Given the description of an element on the screen output the (x, y) to click on. 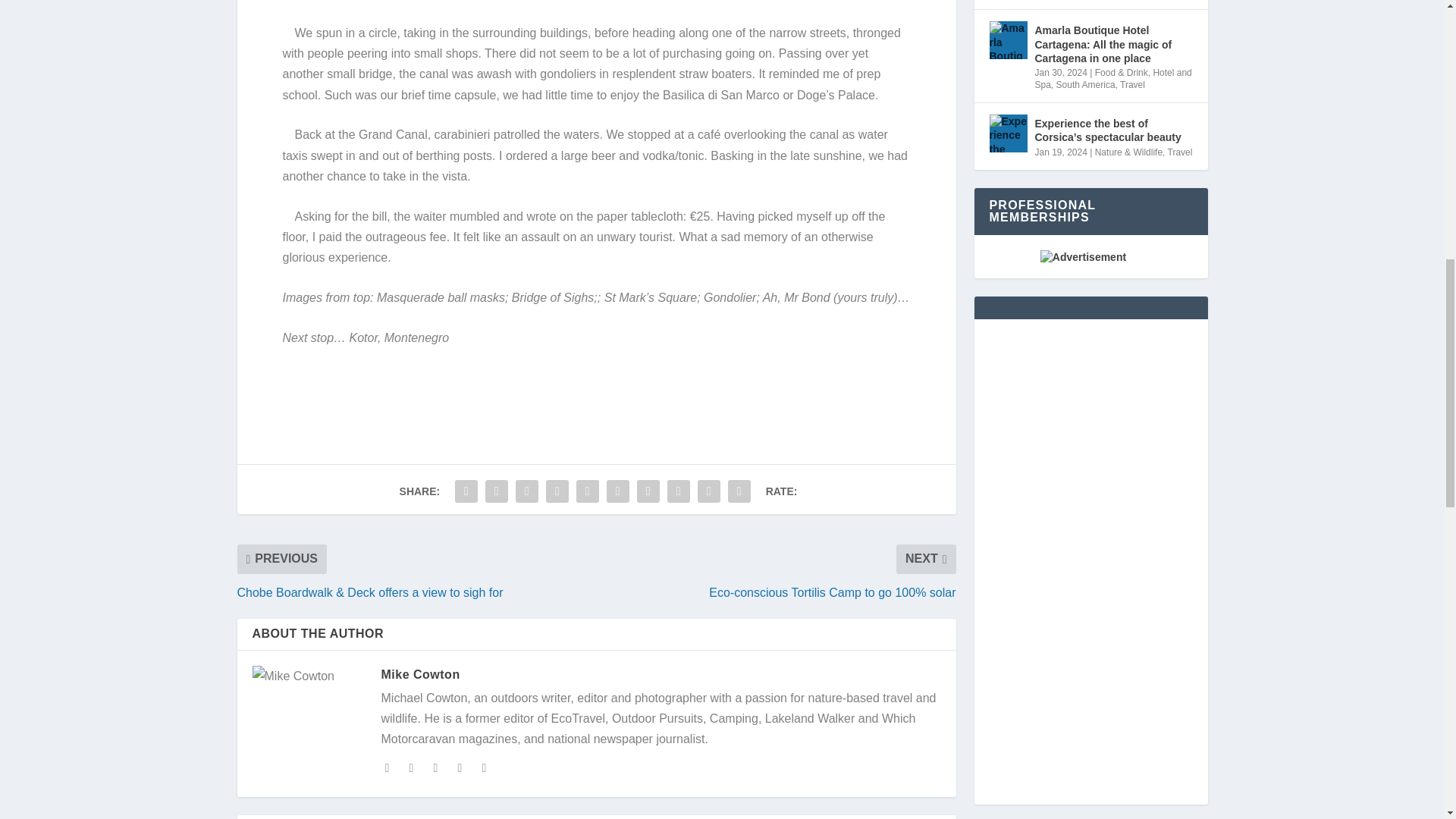
Mike Cowton (420, 674)
